Given the description of an element on the screen output the (x, y) to click on. 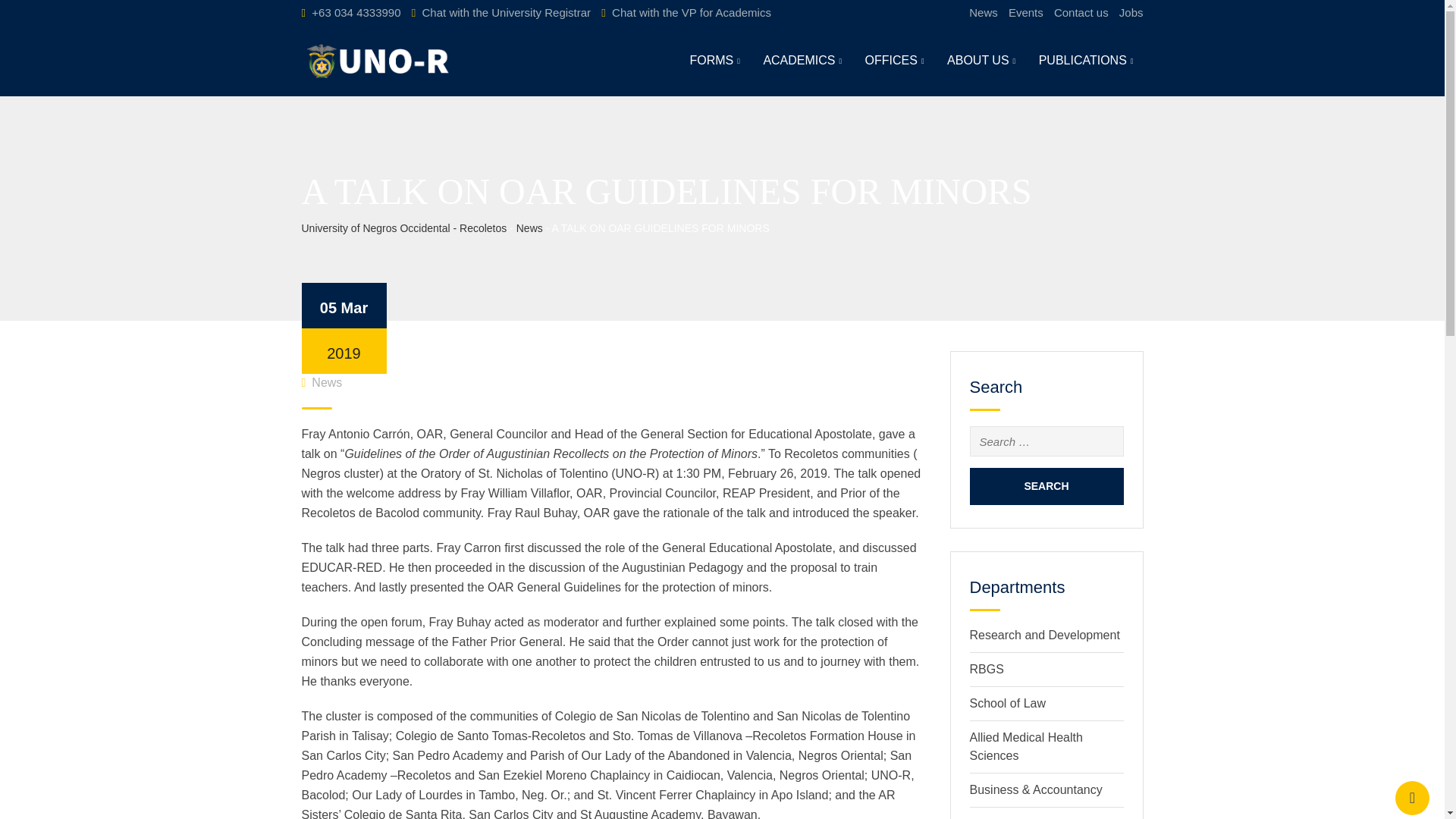
Jobs (1130, 11)
OFFICES (895, 60)
Go to University of Negros Occidental - Recoletos. (403, 227)
Search (1045, 486)
FORMS (714, 60)
Contact us (1081, 11)
ACADEMICS (801, 60)
Go to News. (529, 227)
Chat with the University Registrar (506, 11)
Search (1045, 486)
